Given the description of an element on the screen output the (x, y) to click on. 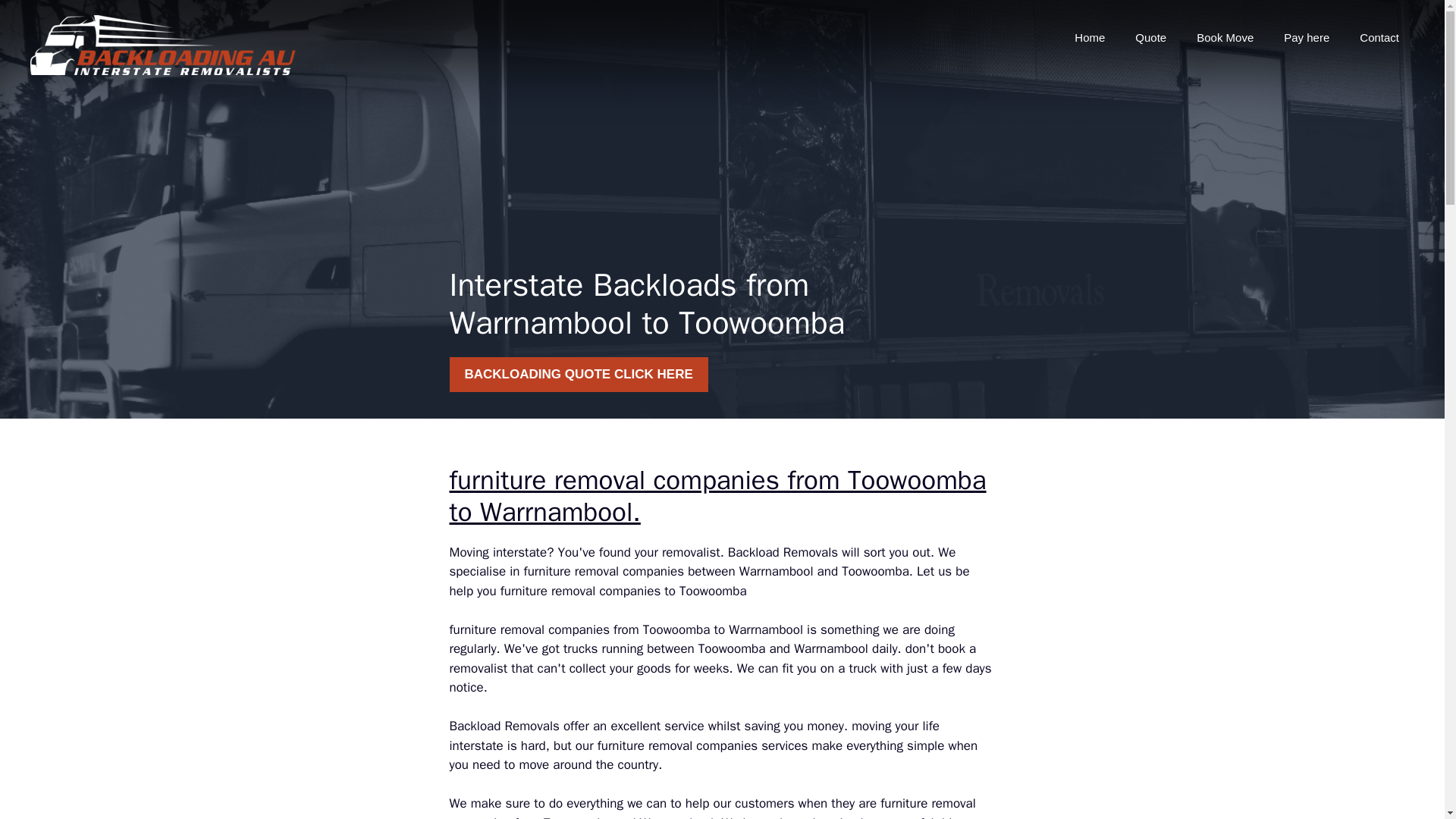
Book Move (1224, 37)
Pay here (1305, 37)
BACKLOADING QUOTE CLICK HERE (577, 374)
Contact (1378, 37)
Quote (1149, 37)
Search (42, 18)
Home (1089, 37)
